Given the description of an element on the screen output the (x, y) to click on. 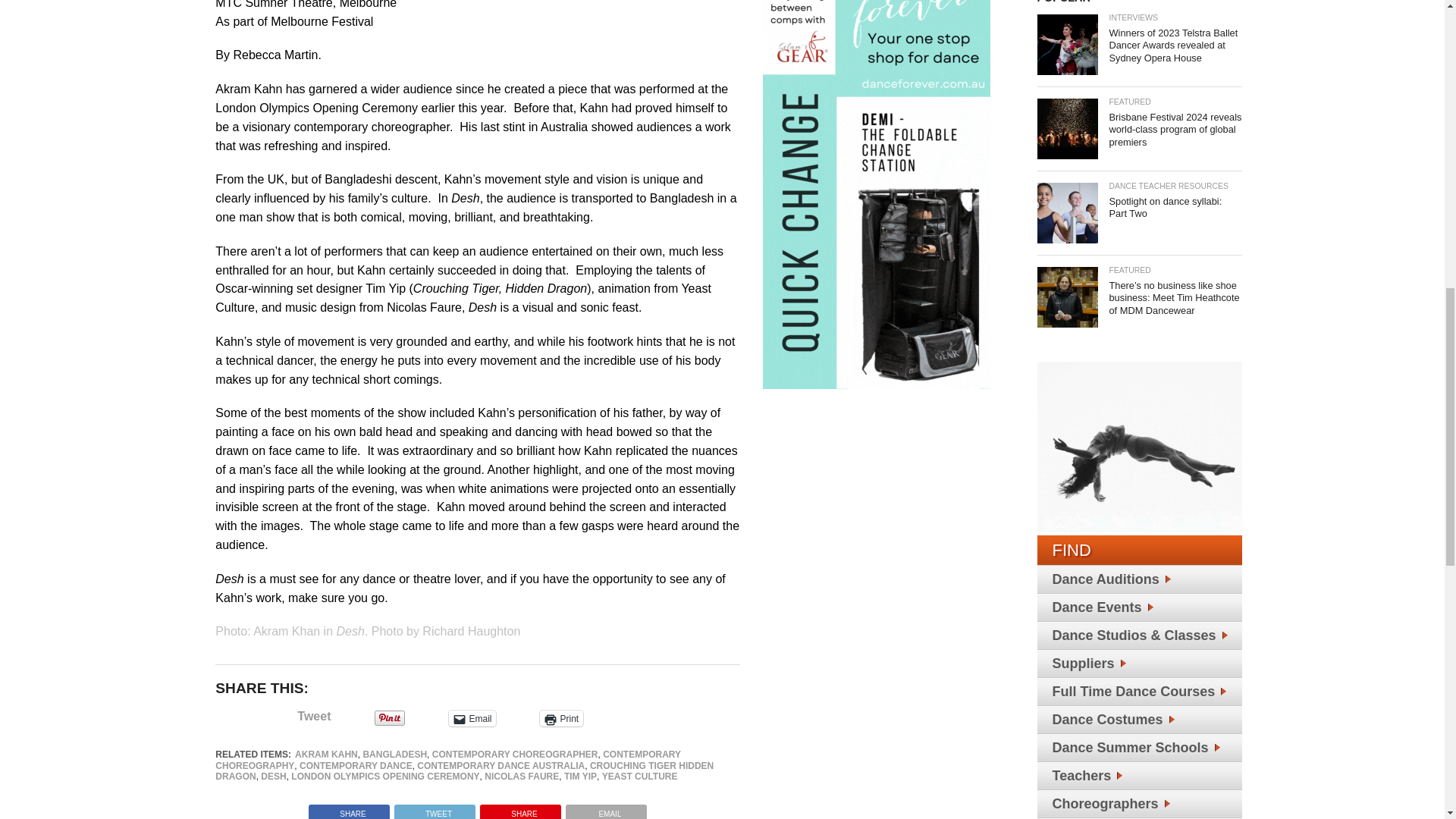
Click to email a link to a friend (472, 718)
Pin This Post (520, 809)
Click to print (561, 718)
Share on Facebook (349, 809)
Tweet This Post (434, 809)
